Given the description of an element on the screen output the (x, y) to click on. 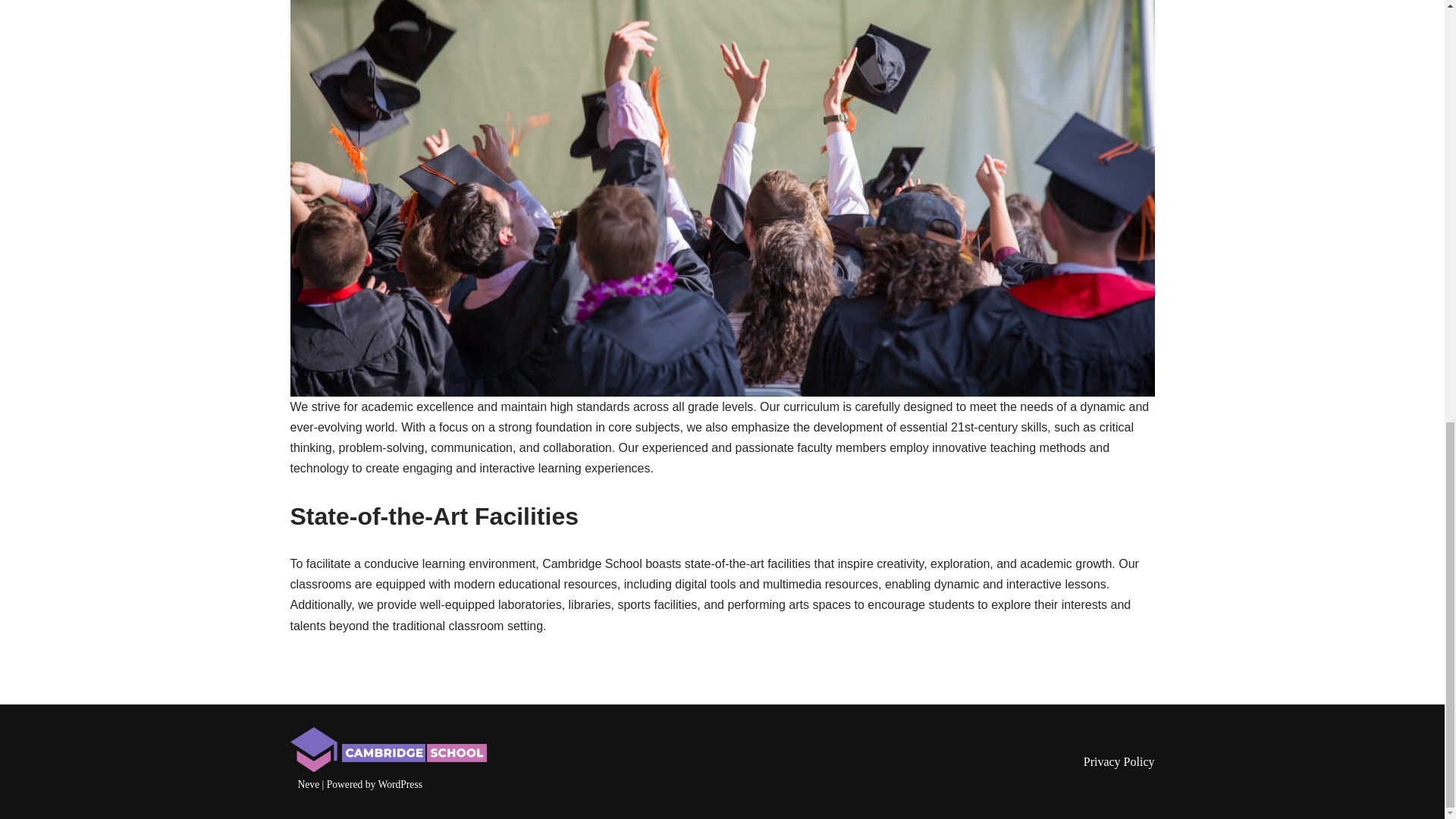
Privacy Policy (1118, 761)
